Given the description of an element on the screen output the (x, y) to click on. 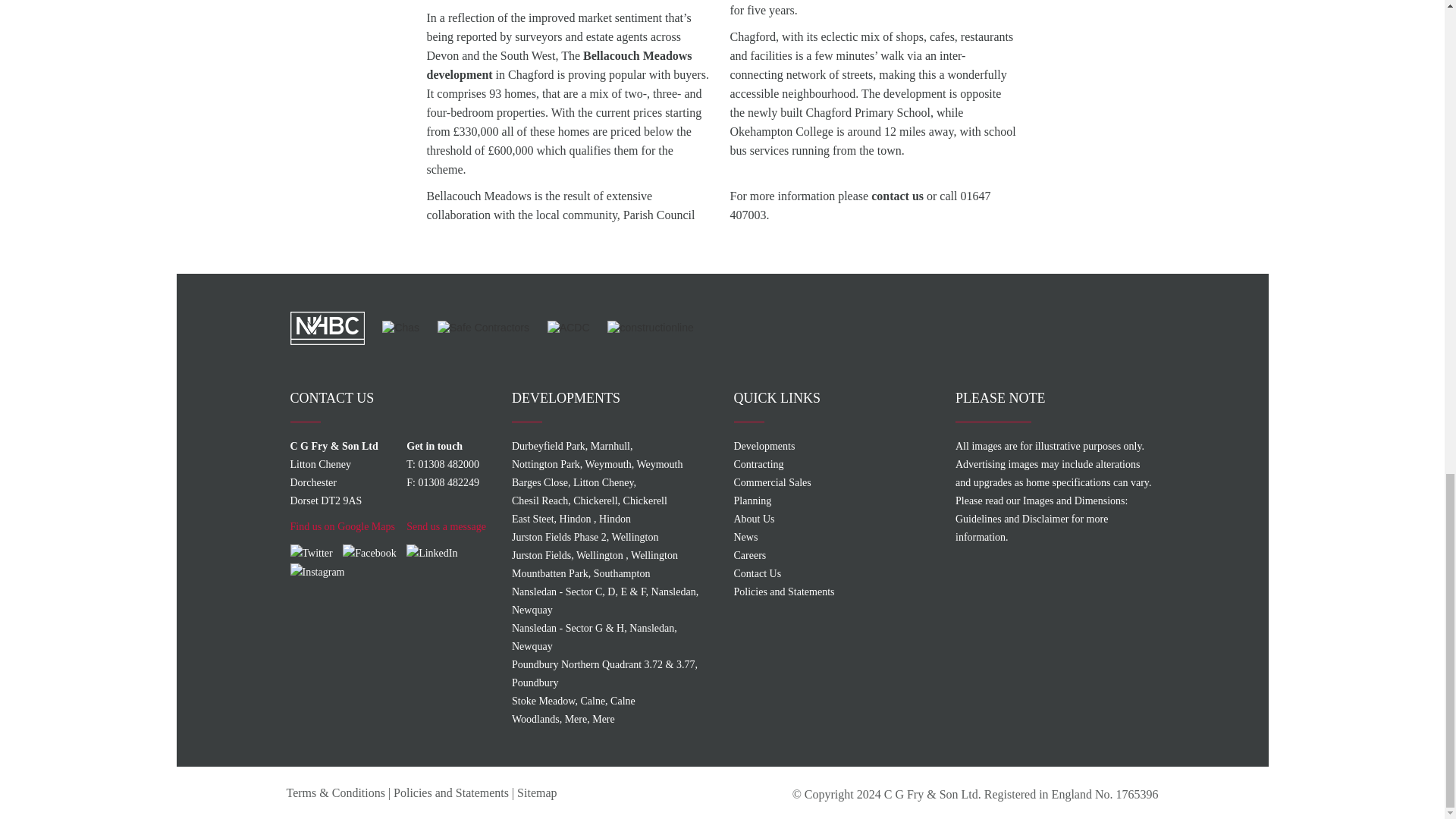
Woodlands, Mere, Mere (611, 719)
Send us a message (446, 526)
Jurston Fields Phase 2, Wellington (341, 526)
Durbeyfield Park, Marnhull, (611, 537)
Mountbatten Park, Southampton (611, 446)
Chesil Reach, Chickerell, Chickerell (611, 574)
About Us (611, 501)
News (833, 519)
Stoke Meadow, Calne, Calne (833, 537)
